Given the description of an element on the screen output the (x, y) to click on. 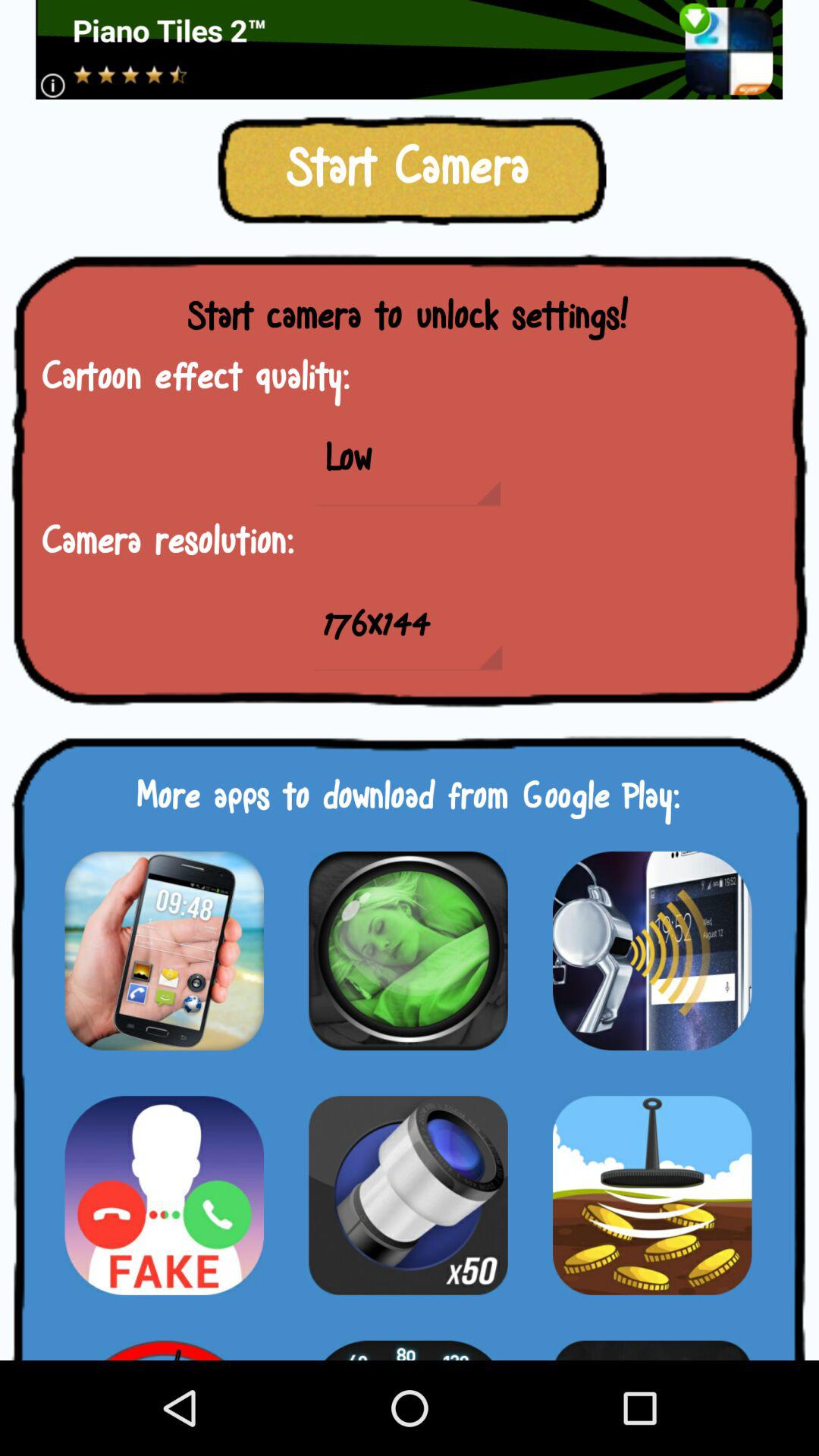
download the app (164, 1340)
